Given the description of an element on the screen output the (x, y) to click on. 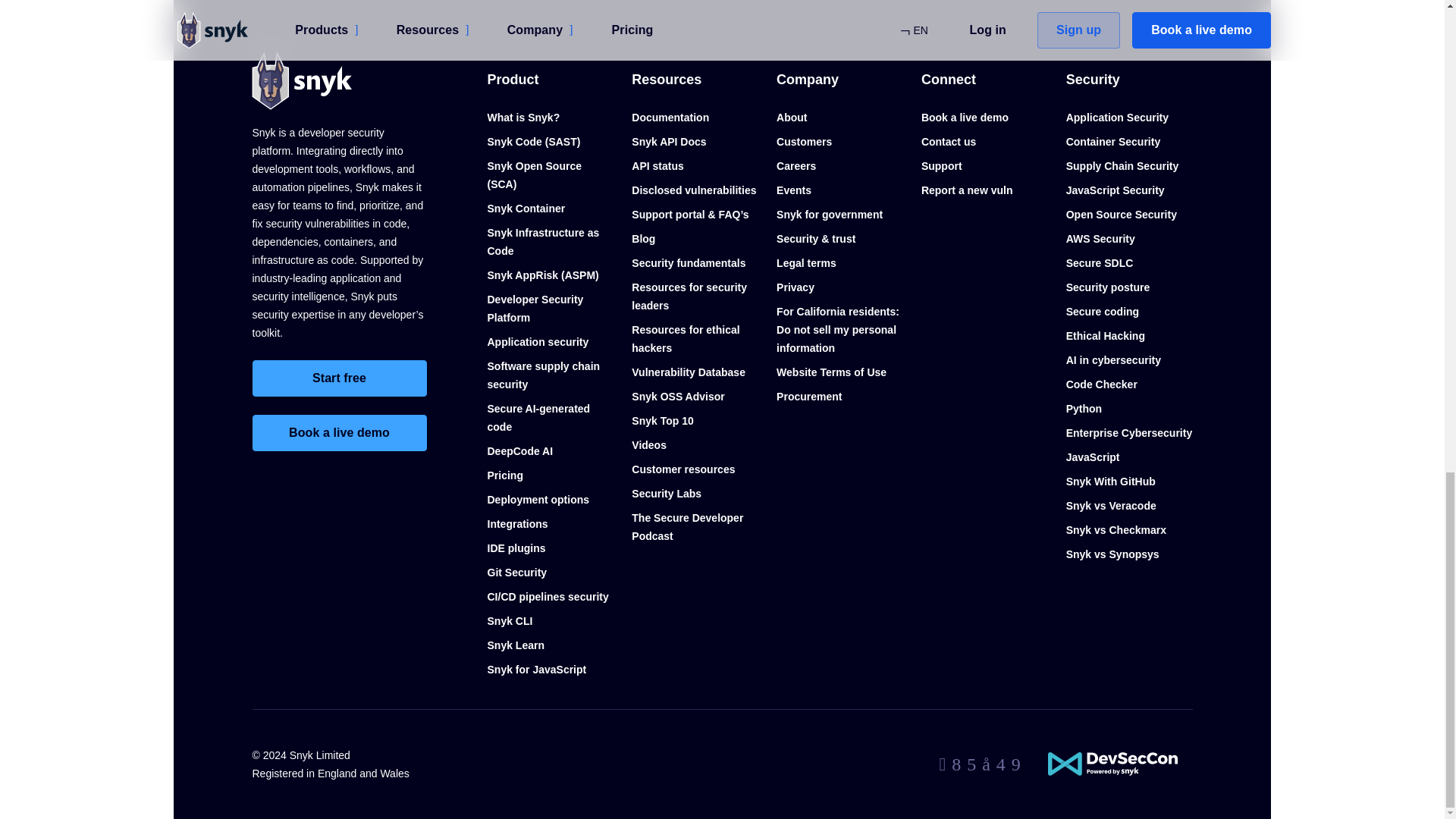
Start free (338, 378)
Book a live demo (338, 432)
